Given the description of an element on the screen output the (x, y) to click on. 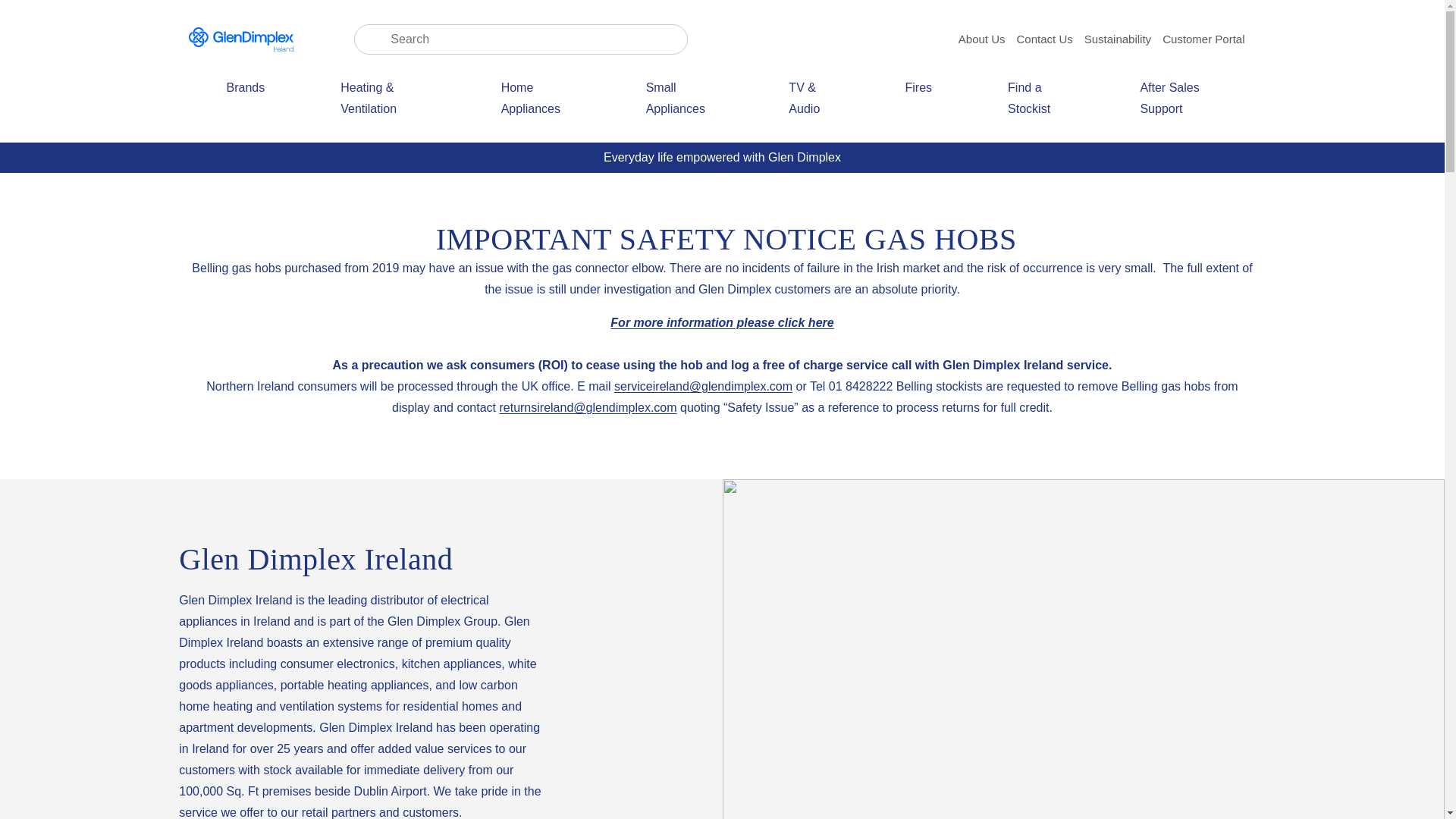
Customer Support, Spare Parts and Engineer information (1178, 109)
